Given the description of an element on the screen output the (x, y) to click on. 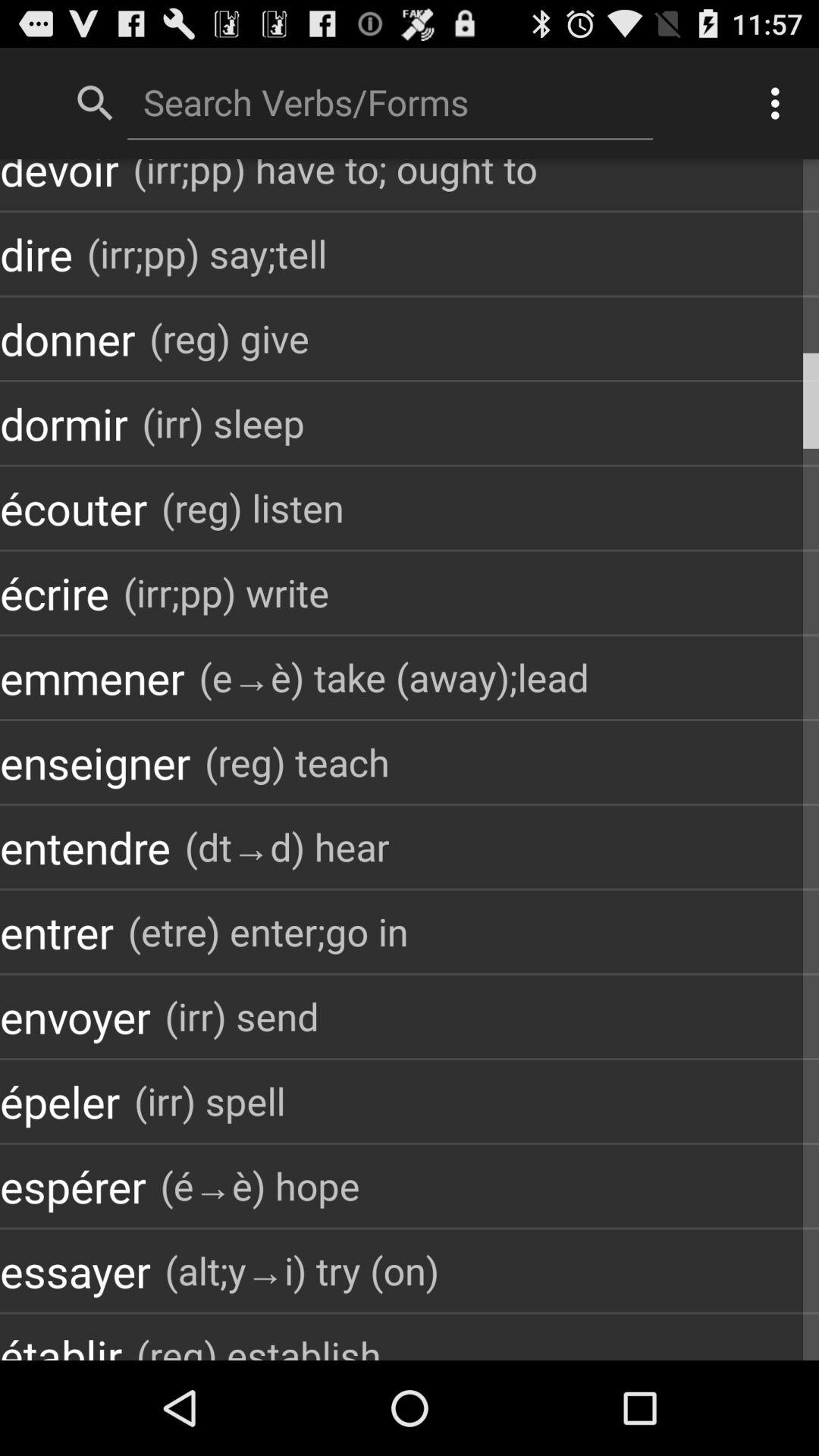
turn off app to the left of the alt y i (75, 1270)
